Given the description of an element on the screen output the (x, y) to click on. 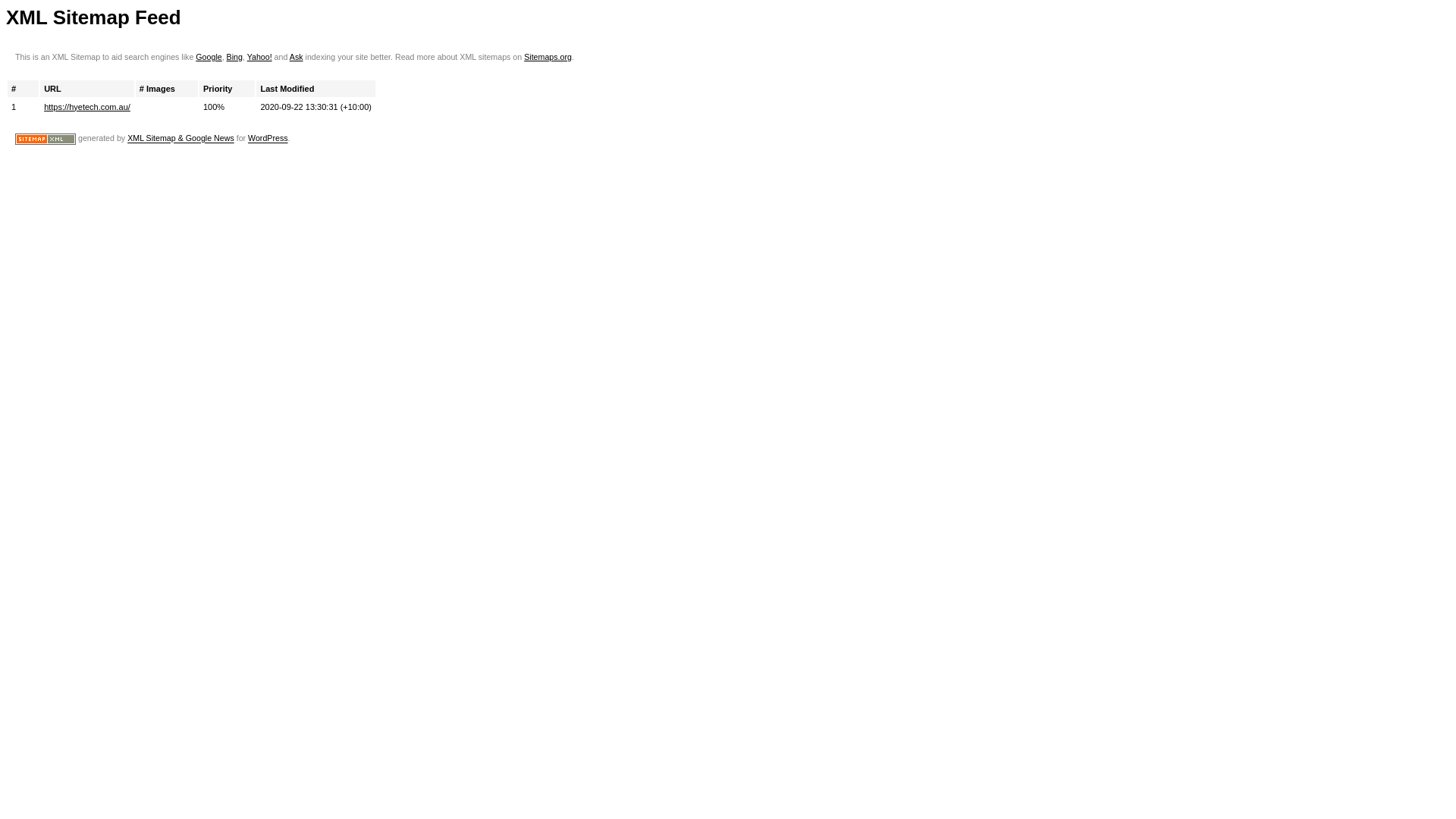
https://hyetech.com.au/ Element type: text (86, 106)
Ask Element type: text (296, 56)
Yahoo! Element type: text (259, 56)
Bing Element type: text (234, 56)
WordPress Element type: text (267, 138)
Google Element type: text (208, 56)
Sitemaps.org Element type: text (547, 56)
XML Sitemap & Google News Element type: text (180, 138)
XML Sitemap Element type: hover (45, 138)
